Given the description of an element on the screen output the (x, y) to click on. 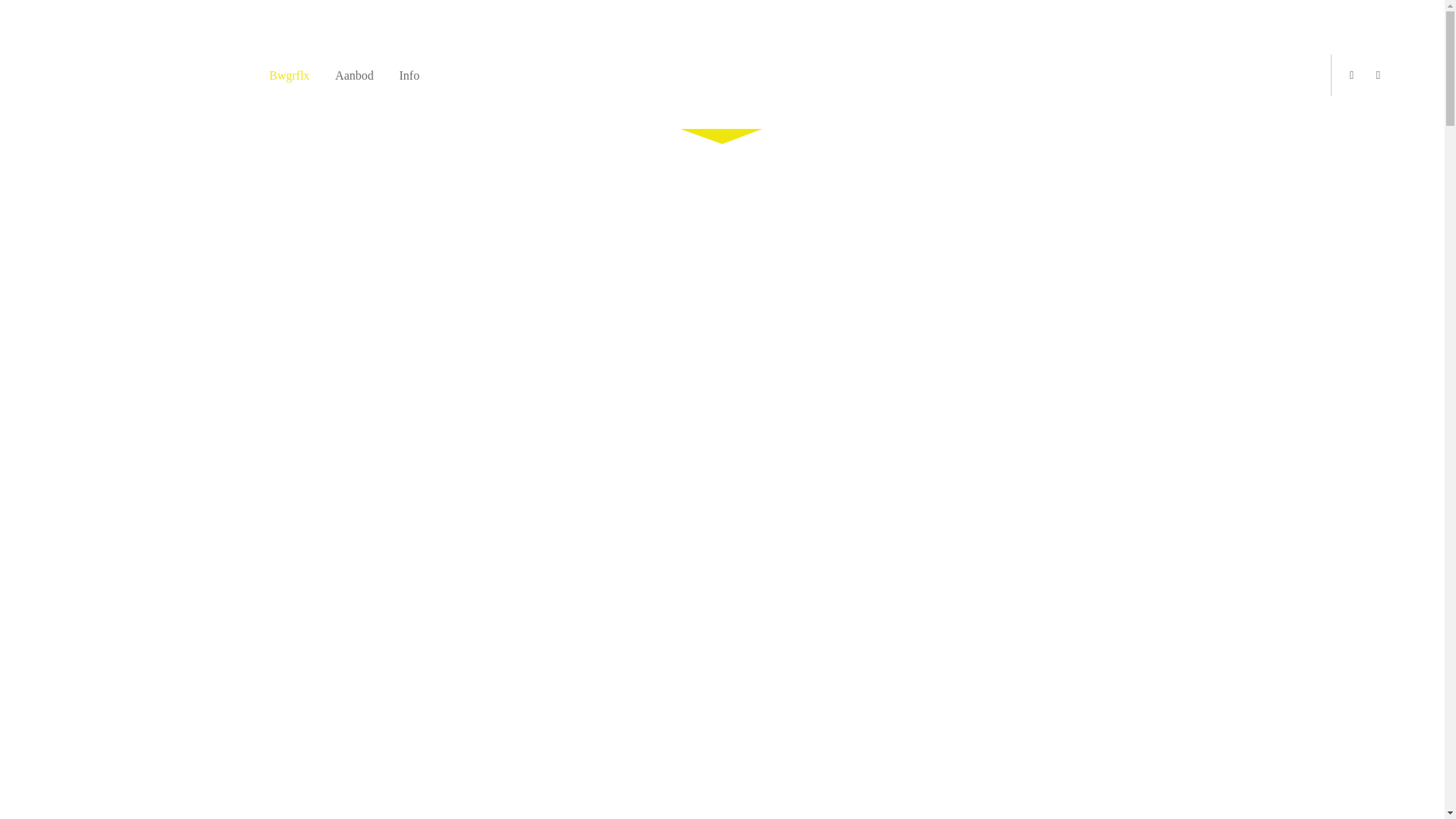
Bwgrflx Element type: text (289, 75)
Info Element type: text (408, 75)
Aanbod Element type: text (354, 75)
